Given the description of an element on the screen output the (x, y) to click on. 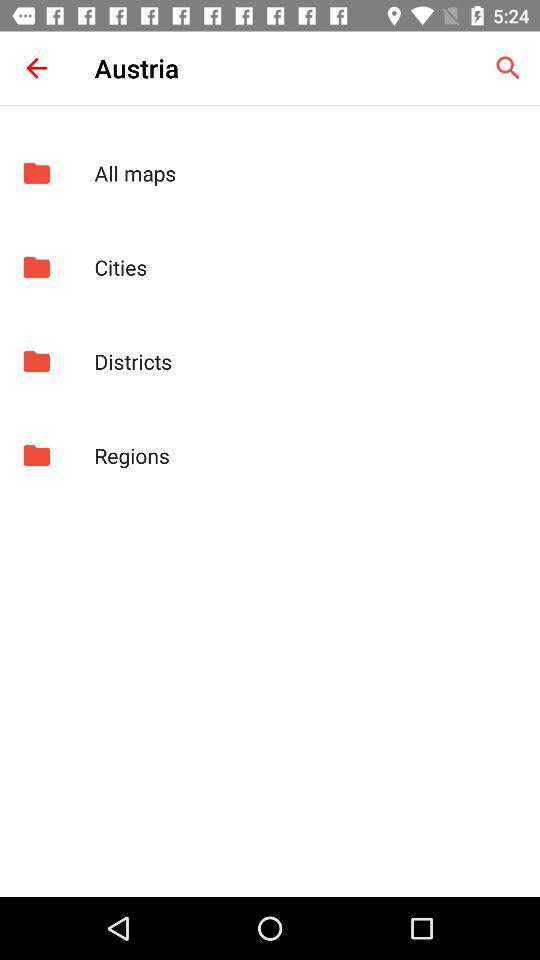
open cities icon (306, 267)
